Given the description of an element on the screen output the (x, y) to click on. 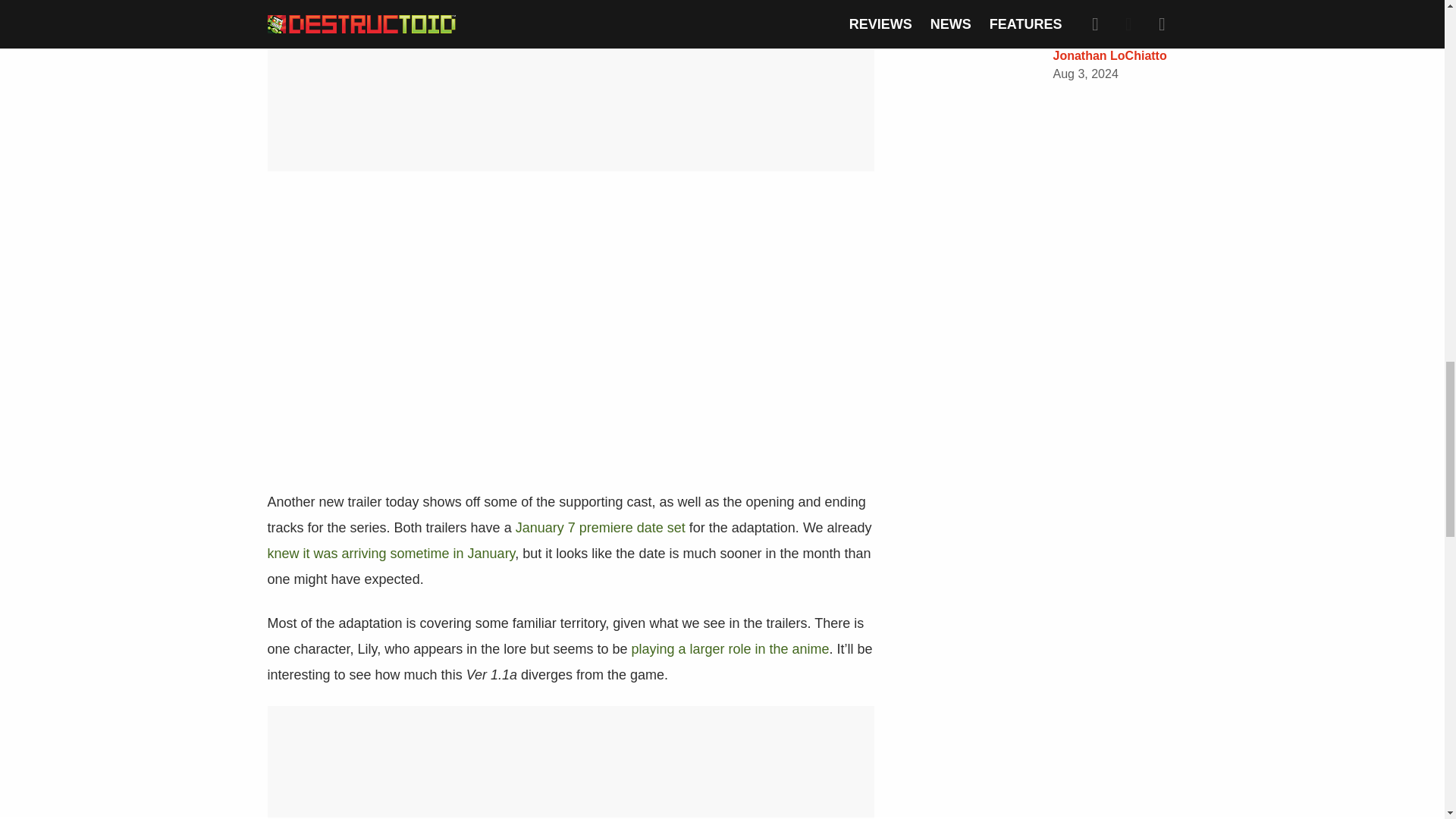
January 7 premiere date set (600, 527)
knew it was arriving sometime in January (390, 553)
